Given the description of an element on the screen output the (x, y) to click on. 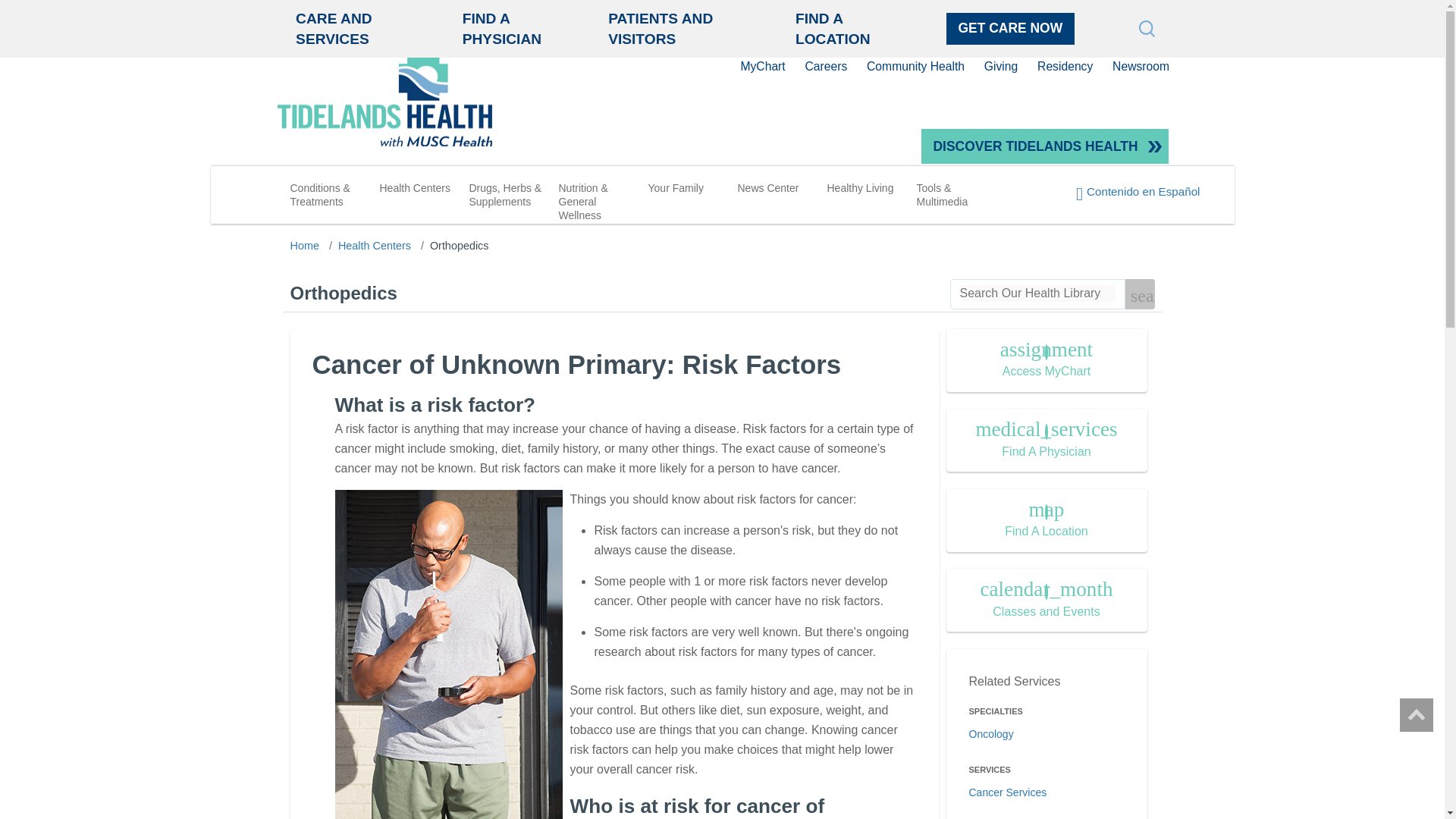
FIND A PHYSICIAN (502, 28)
MyChart (761, 65)
Find a Location (832, 28)
Newsroom (1140, 65)
Giving (1000, 65)
GET CARE NOW (1010, 28)
Find a Physician (502, 28)
FIND A LOCATION (832, 28)
Careers (826, 65)
Community Health (914, 65)
Discover Tidelands Health (1045, 145)
Care and Services (333, 28)
Residency (1064, 65)
DISCOVER TIDELANDS HEALTH (1045, 145)
MyChart (761, 65)
